Given the description of an element on the screen output the (x, y) to click on. 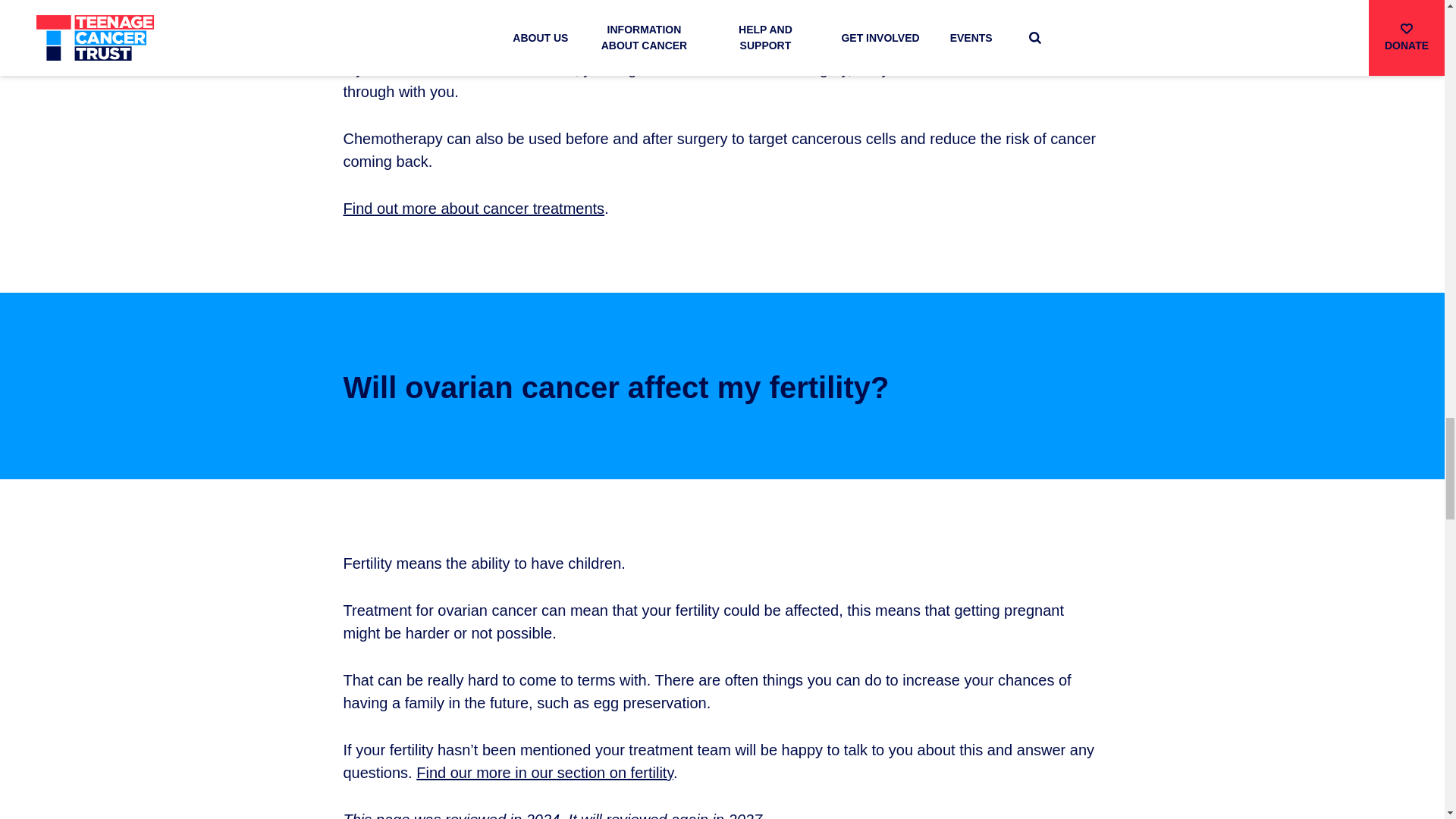
Cancer treatment (473, 208)
How cancer treatment can affect fertility (544, 772)
